Given the description of an element on the screen output the (x, y) to click on. 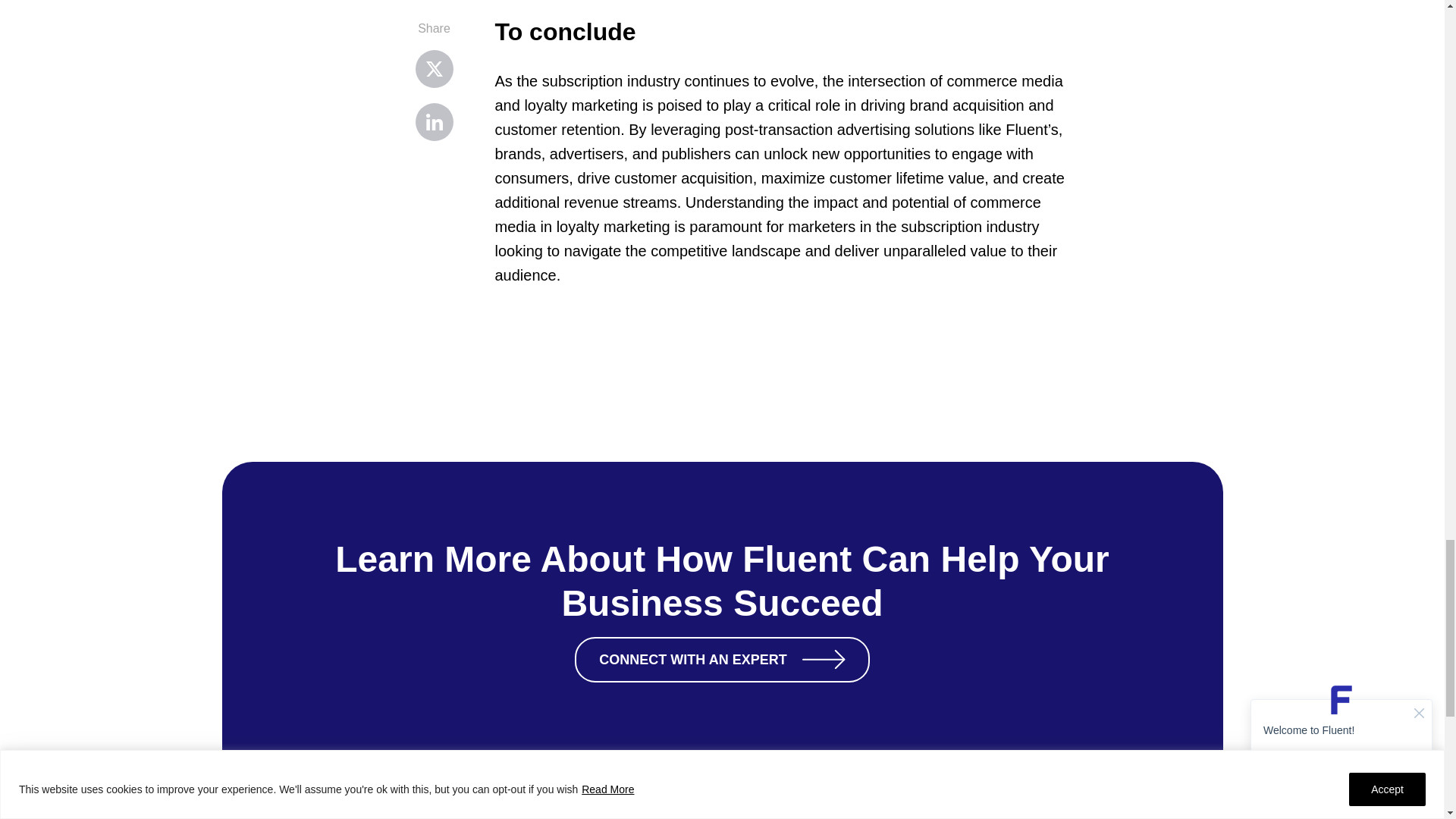
Fluent logo (309, 793)
Fluent logo (309, 787)
CONNECT WITH AN EXPERT (722, 659)
